Given the description of an element on the screen output the (x, y) to click on. 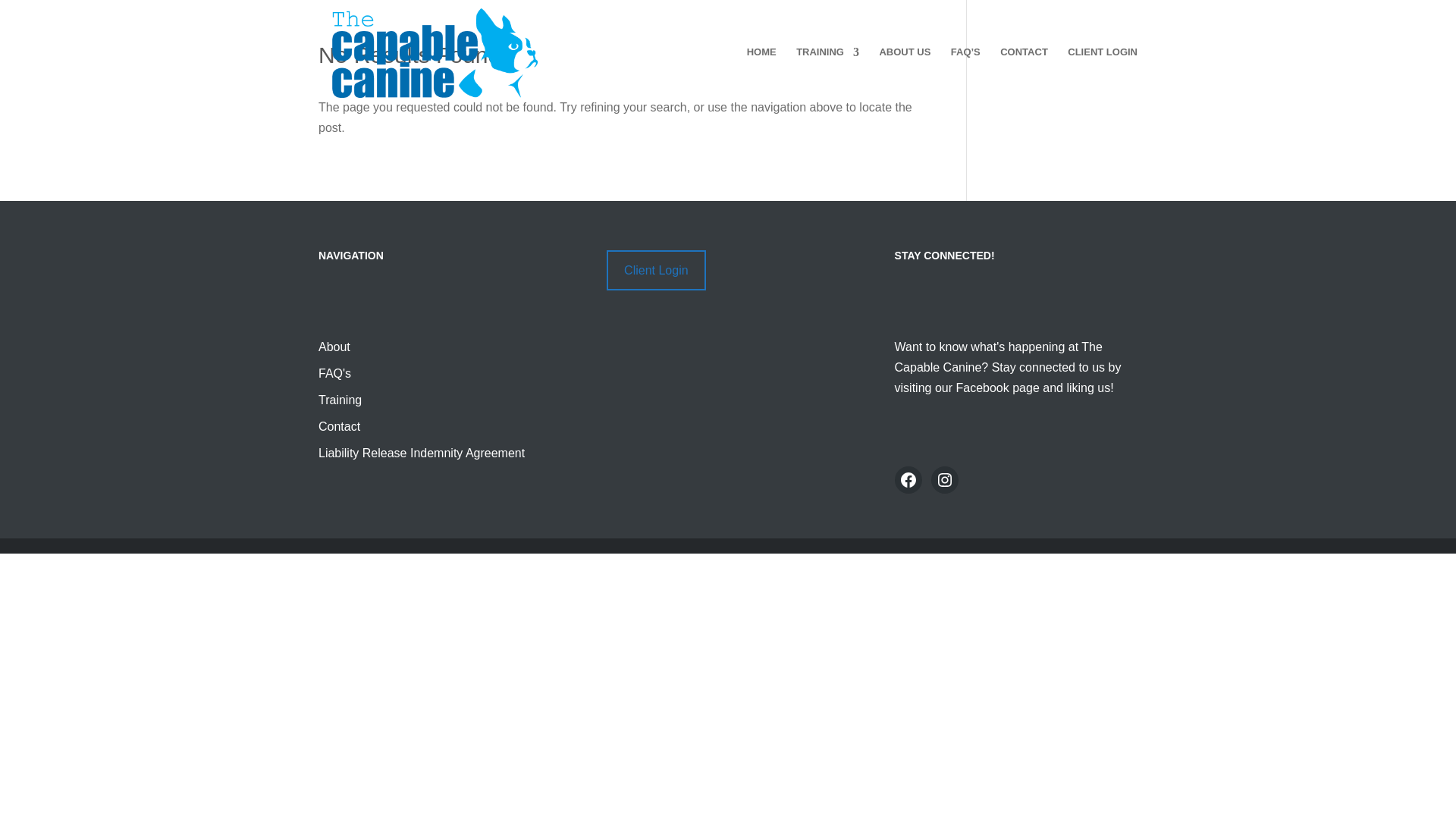
Client Login (656, 270)
ABOUT US (904, 75)
CONTACT (1024, 75)
HOME (761, 75)
Facebook (908, 479)
TRAINING (827, 75)
Instagram (944, 479)
Liability Release Indemnity Agreement (421, 452)
Contact (338, 426)
Training (339, 399)
About (334, 346)
CLIENT LOGIN (1102, 75)
FAQ's (334, 373)
